Given the description of an element on the screen output the (x, y) to click on. 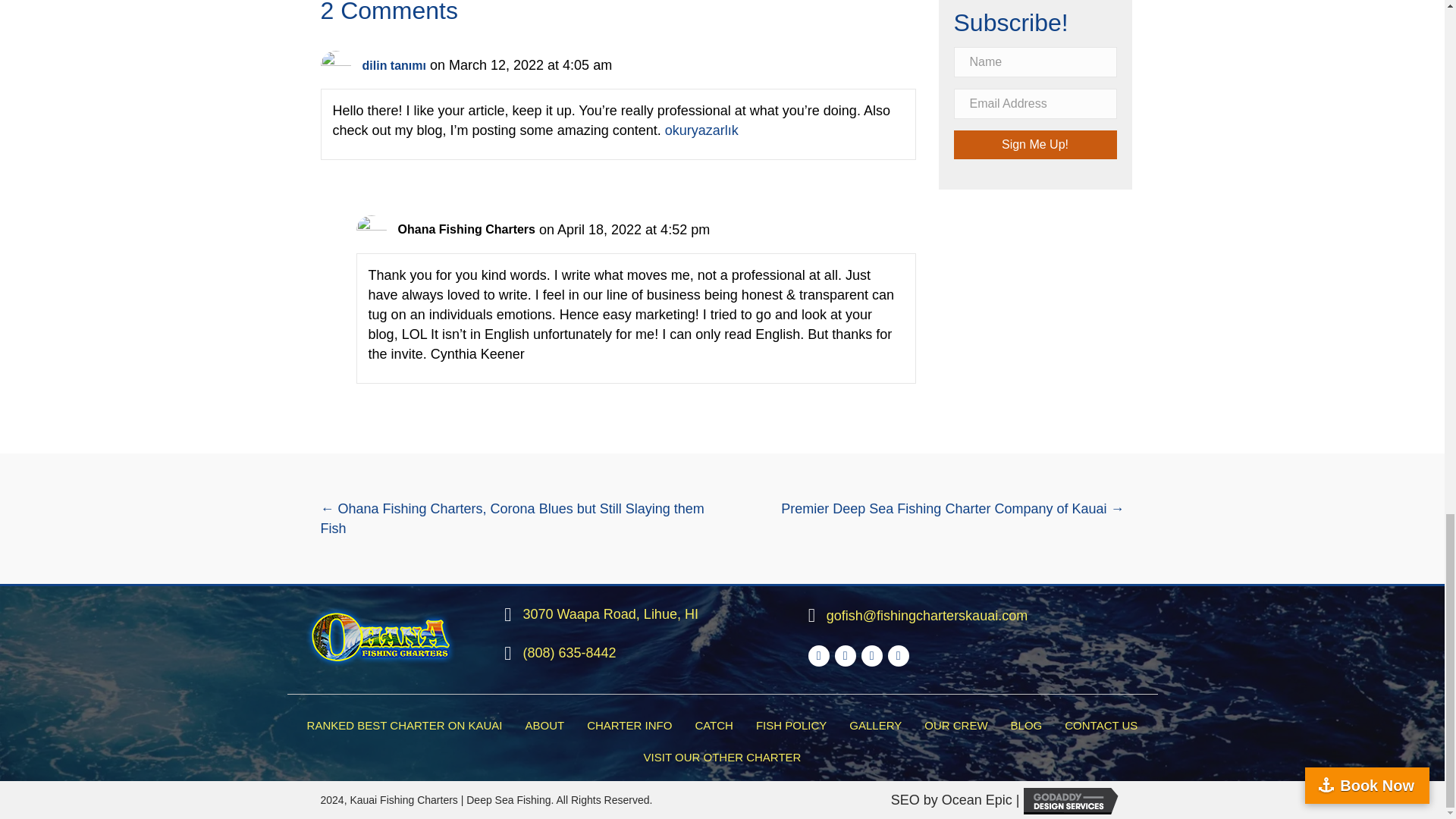
Ohana Fishing Charters (380, 636)
Sign Me Up! (1034, 144)
